Given the description of an element on the screen output the (x, y) to click on. 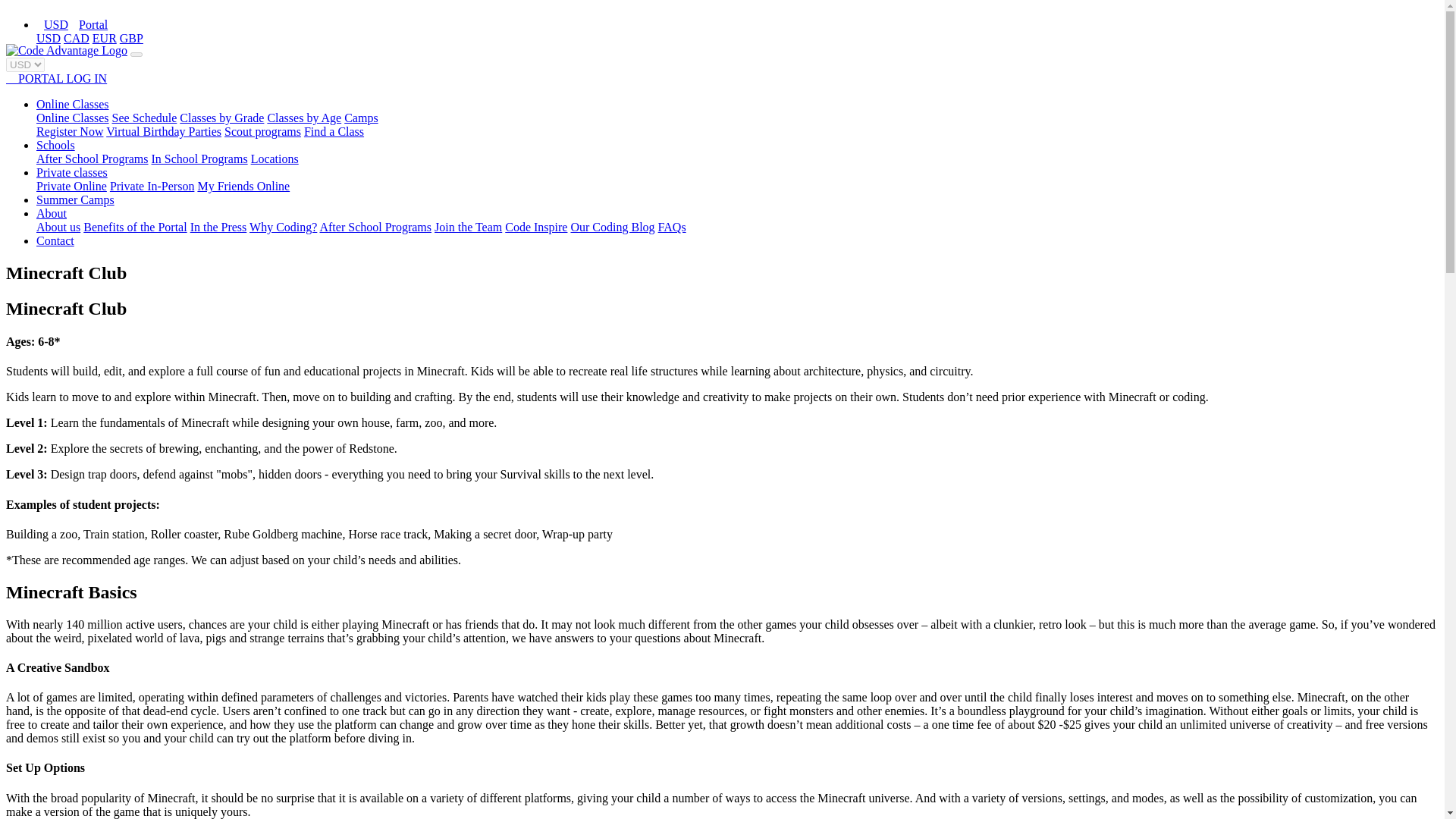
PORTAL LOG IN (55, 78)
CAD (76, 38)
After School Programs (374, 226)
Why Coding? (282, 226)
Register Now (69, 131)
Locations (274, 158)
Virtual Birthday Parties (163, 131)
USD (48, 38)
GBP (130, 38)
Schools (55, 144)
